Given the description of an element on the screen output the (x, y) to click on. 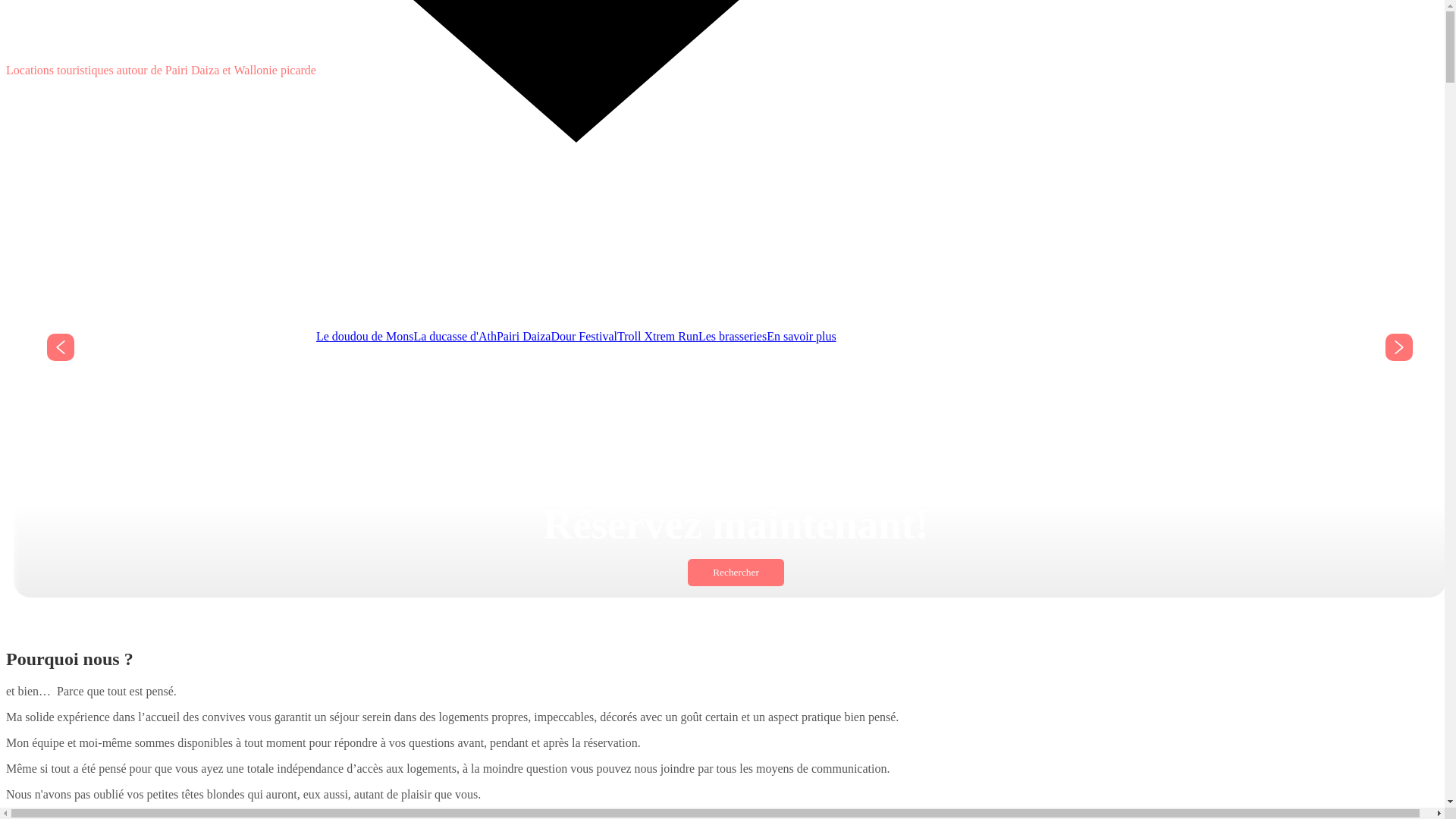
La ducasse d'Ath Element type: text (454, 335)
Troll Xtrem Run Element type: text (657, 335)
Rechercher Element type: text (735, 572)
Pairi Daiza Element type: text (523, 335)
Dour Festival Element type: text (583, 335)
En savoir plus Element type: text (801, 335)
Le doudou de Mons Element type: text (364, 335)
Les brasseries Element type: text (732, 335)
